Given the description of an element on the screen output the (x, y) to click on. 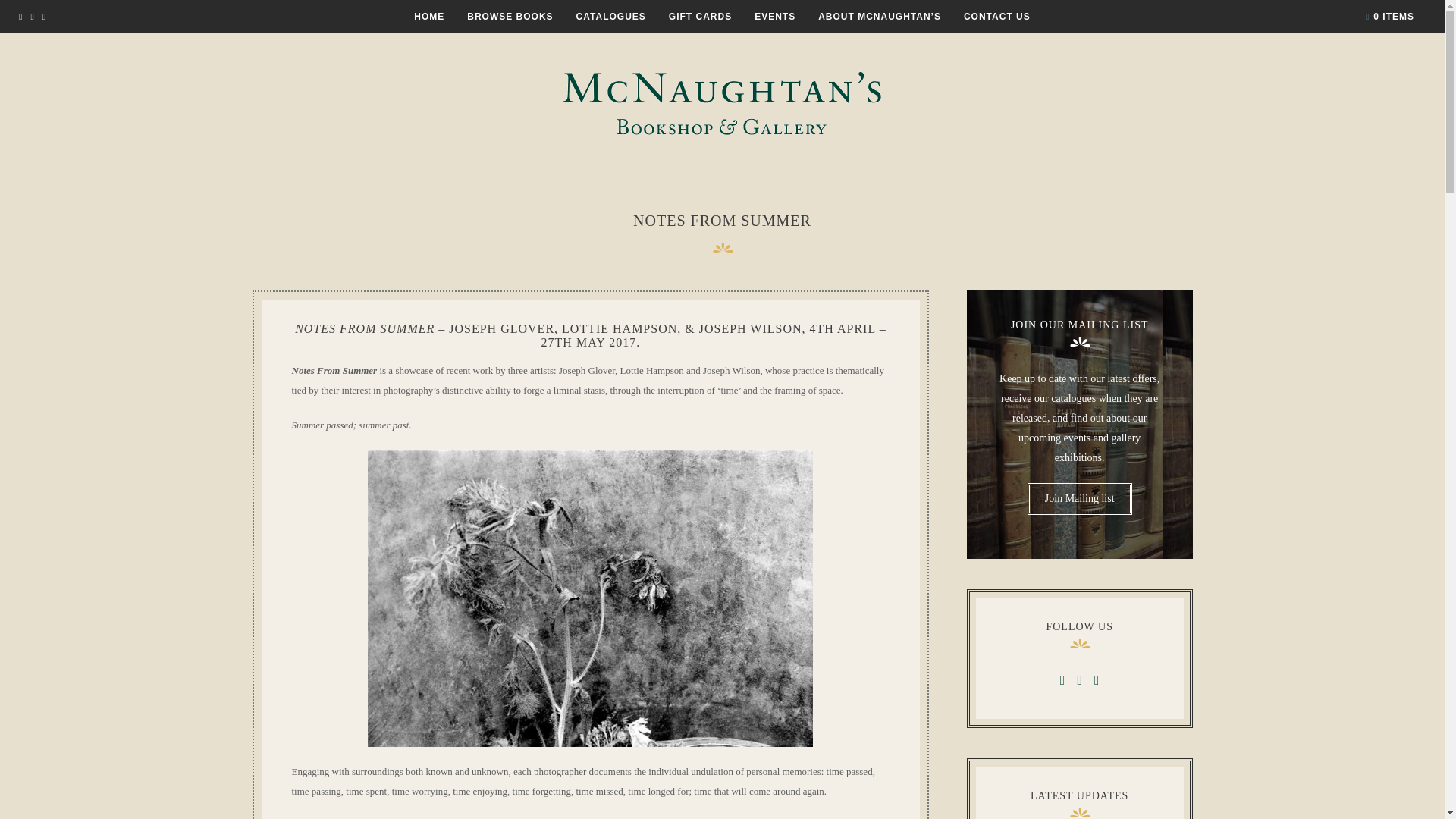
View your shopping basket (1389, 16)
EVENTS (774, 16)
CATALOGUES (611, 16)
Join Mailing list (1079, 499)
0 ITEMS (1389, 16)
BROWSE BOOKS (510, 16)
CONTACT US (996, 16)
GIFT CARDS (700, 16)
HOME (428, 16)
